Given the description of an element on the screen output the (x, y) to click on. 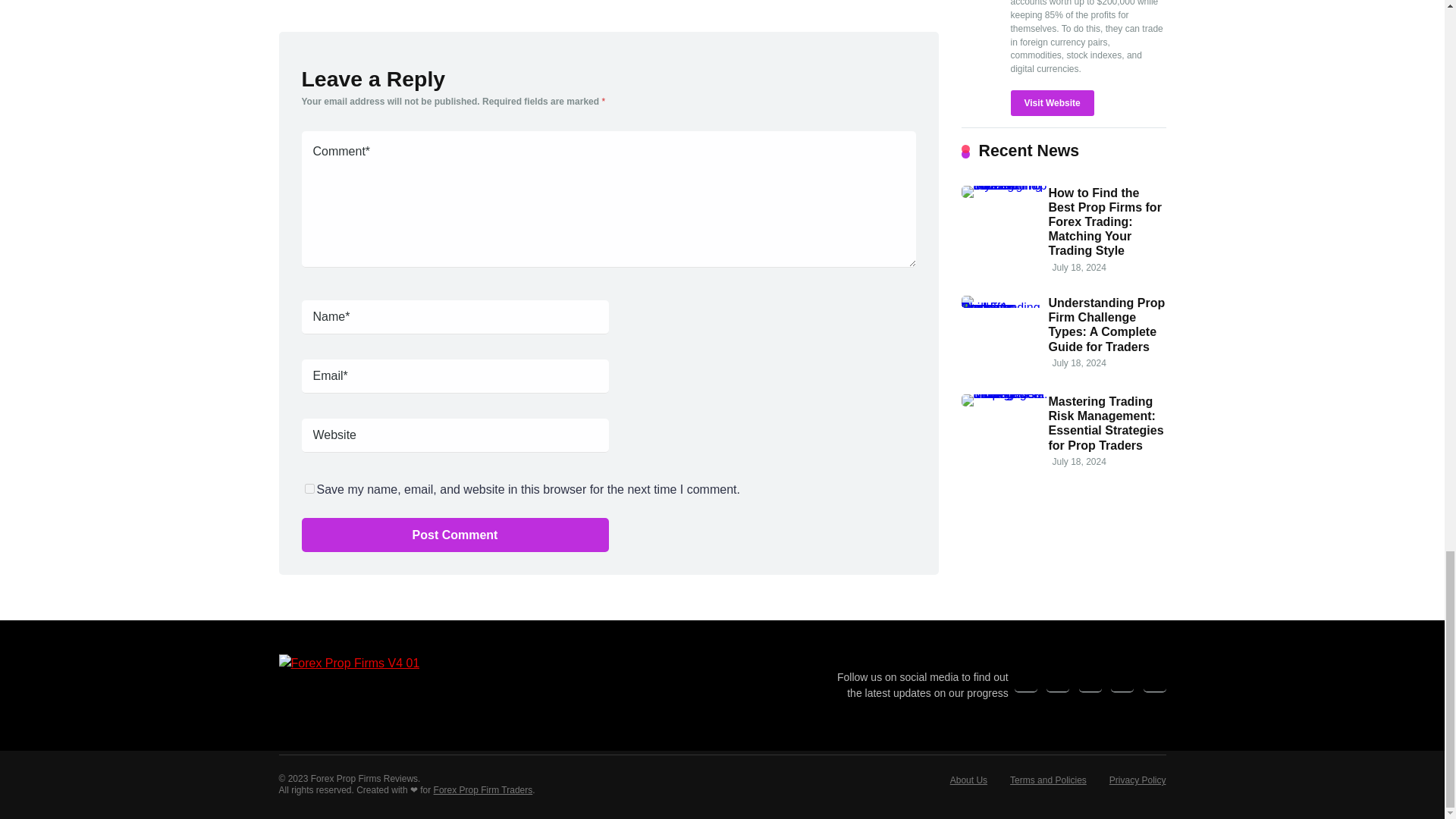
yes (309, 488)
Post Comment (454, 534)
Post Comment (454, 534)
